Given the description of an element on the screen output the (x, y) to click on. 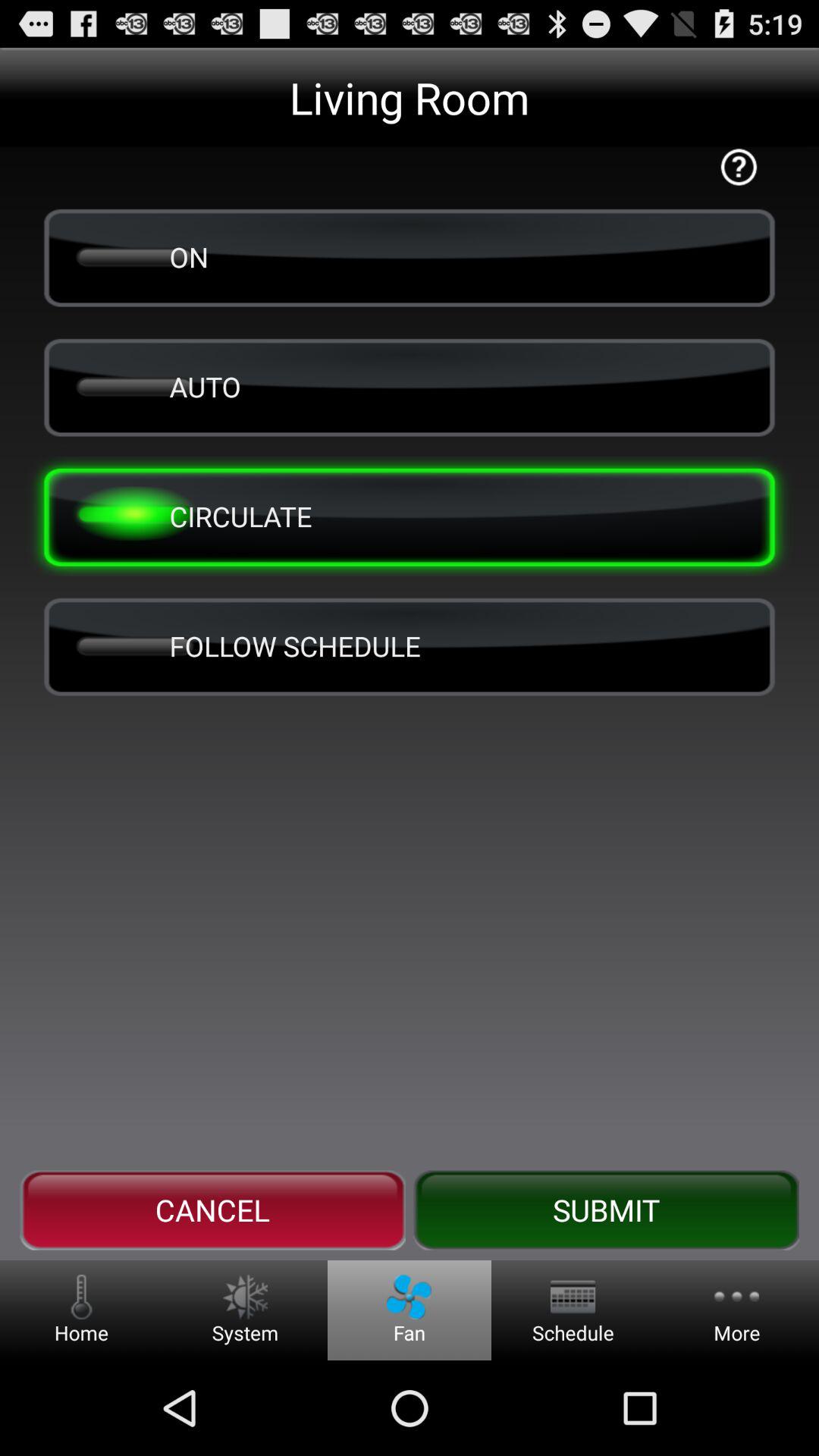
click the button next to the submit button (212, 1210)
